Given the description of an element on the screen output the (x, y) to click on. 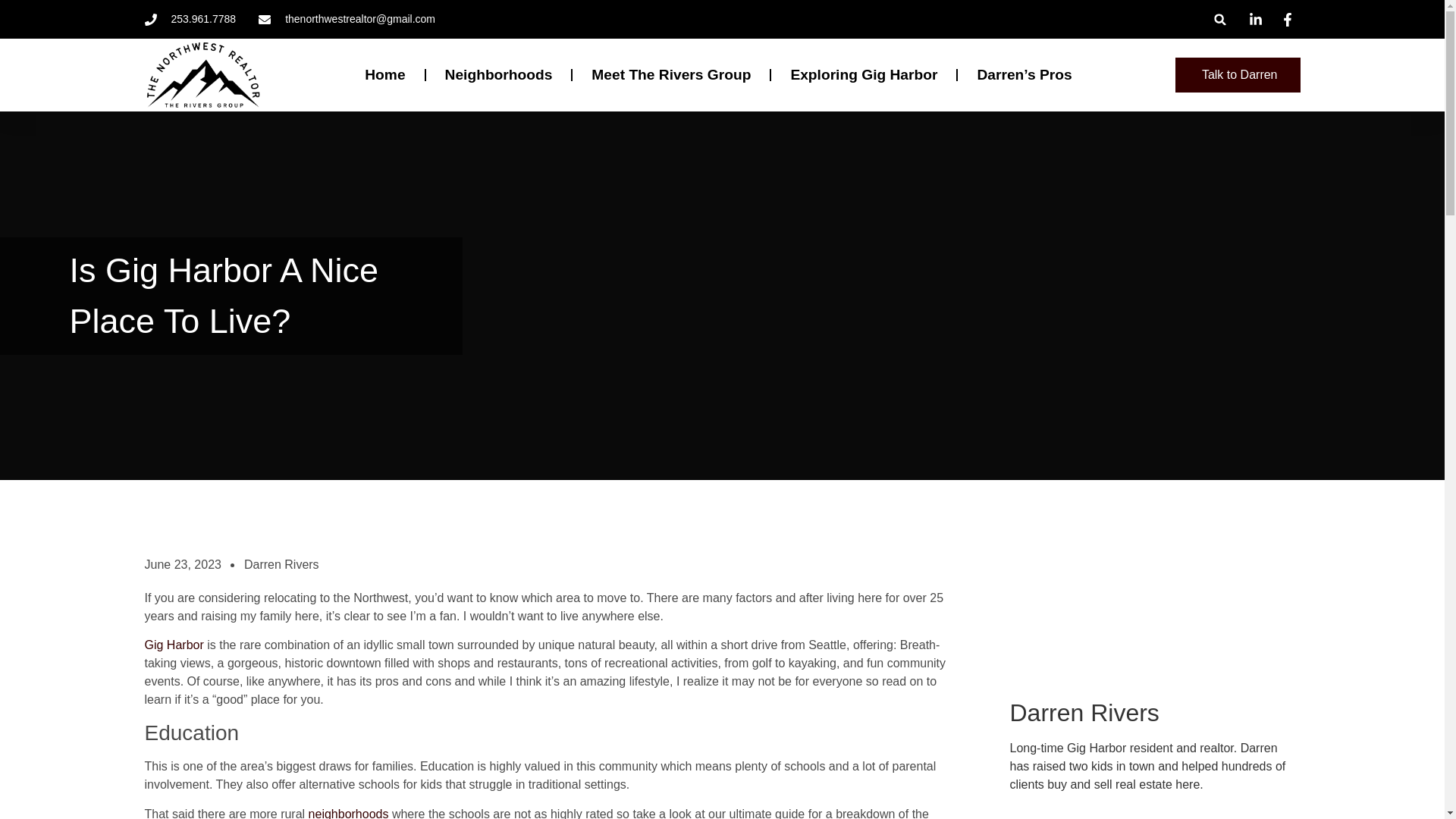
neighborhoods (348, 813)
Exploring Gig Harbor (863, 74)
Meet The Rivers Group (671, 74)
Neighborhoods (499, 74)
Gig Harbor (173, 644)
June 23, 2023 (182, 565)
Talk to Darren (1237, 74)
253.961.7788 (189, 19)
Home (384, 74)
Darren Rivers (281, 565)
neighborhoods (348, 813)
